Given the description of an element on the screen output the (x, y) to click on. 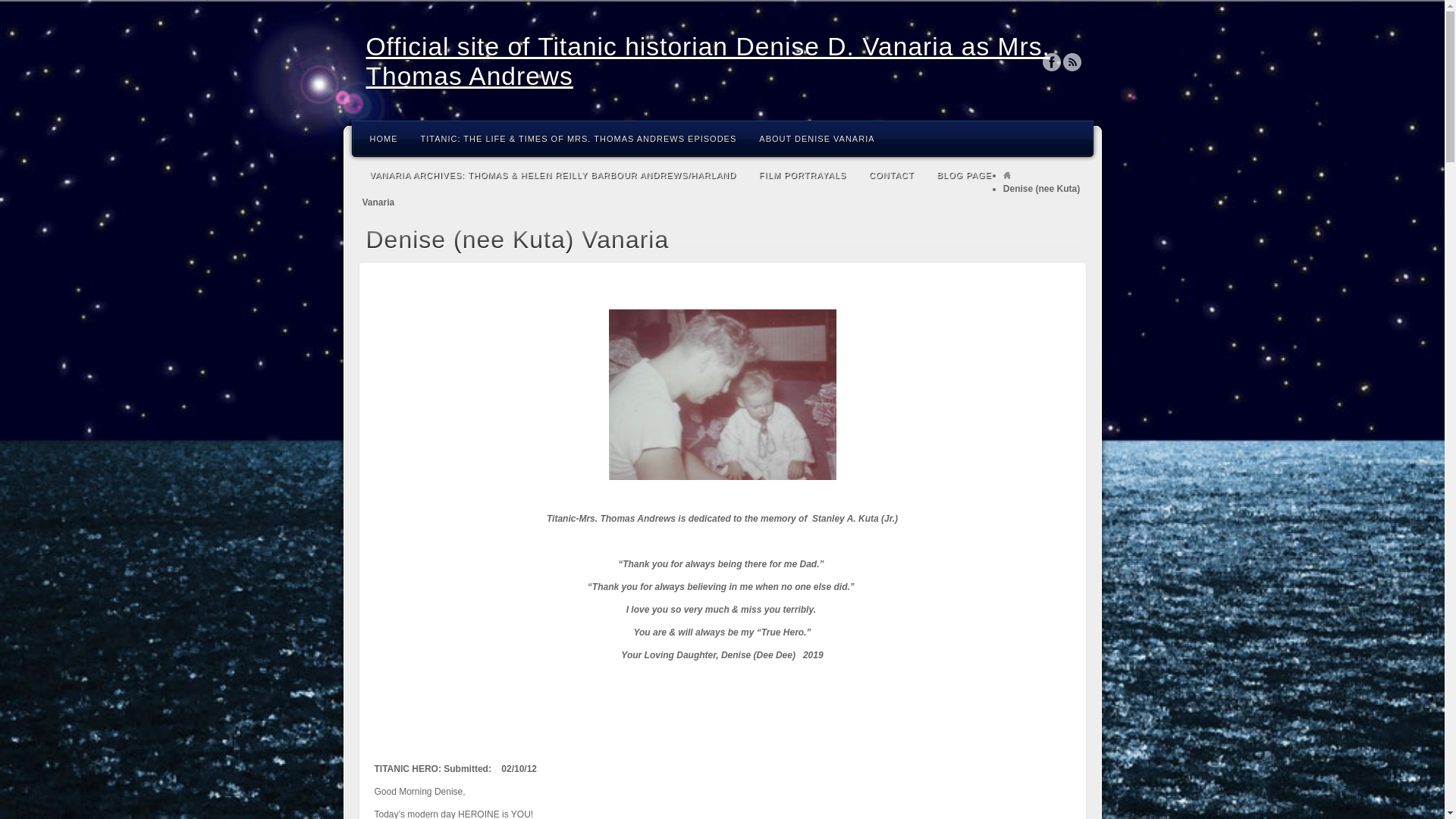
ABOUT DENISE VANARIA (816, 137)
Facebook (1051, 62)
RSS (1071, 62)
RSS (1071, 62)
FILM PORTRAYALS (802, 174)
CONTACT (890, 174)
BLOG PAGE (963, 174)
HOME (383, 137)
Facebook (1051, 62)
